Given the description of an element on the screen output the (x, y) to click on. 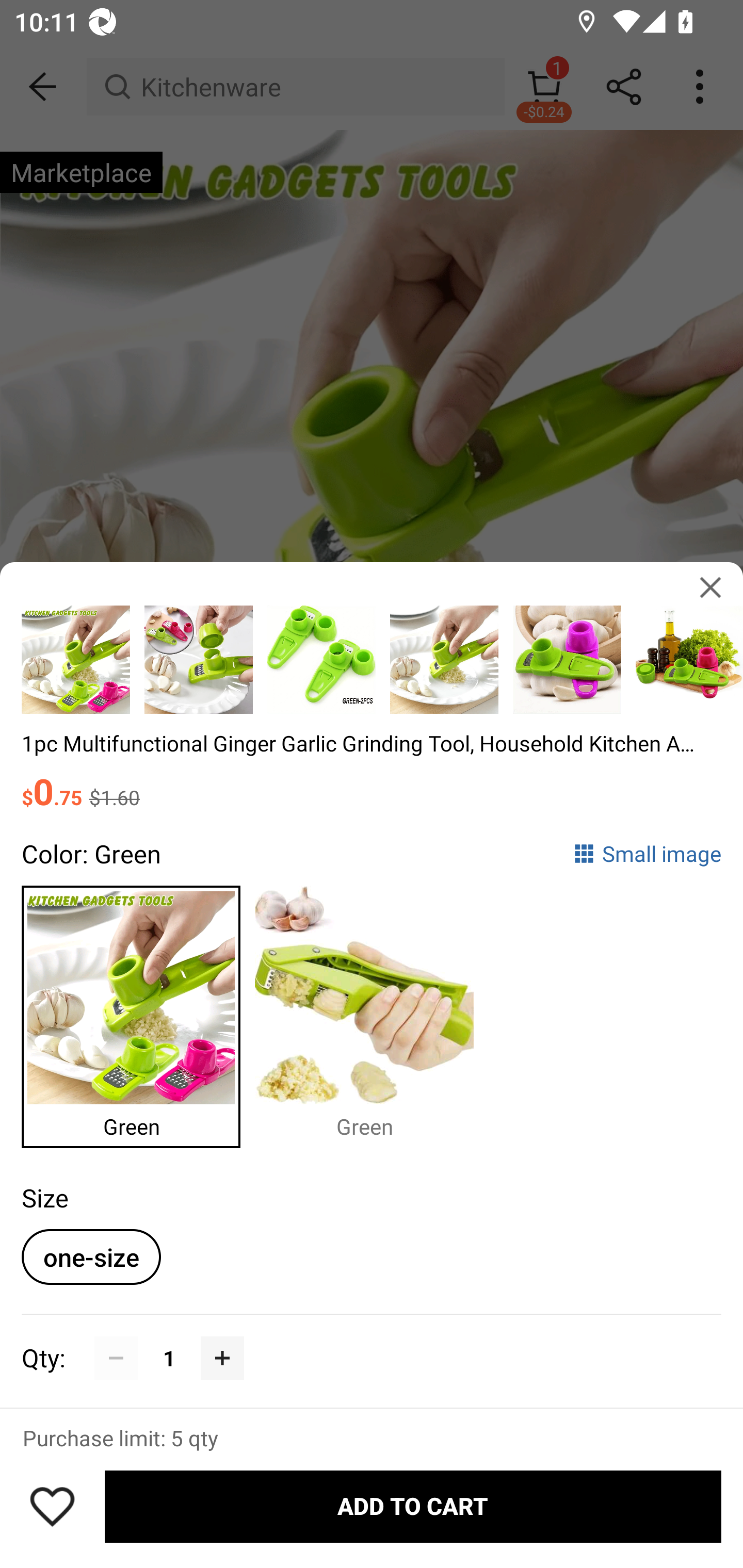
Color: Green (91, 853)
Small image (647, 853)
Green (137, 1012)
Green (371, 1012)
Size (44, 1197)
one-size one-sizeselected option (91, 1256)
ADD TO CART (412, 1506)
Save (52, 1505)
